Given the description of an element on the screen output the (x, y) to click on. 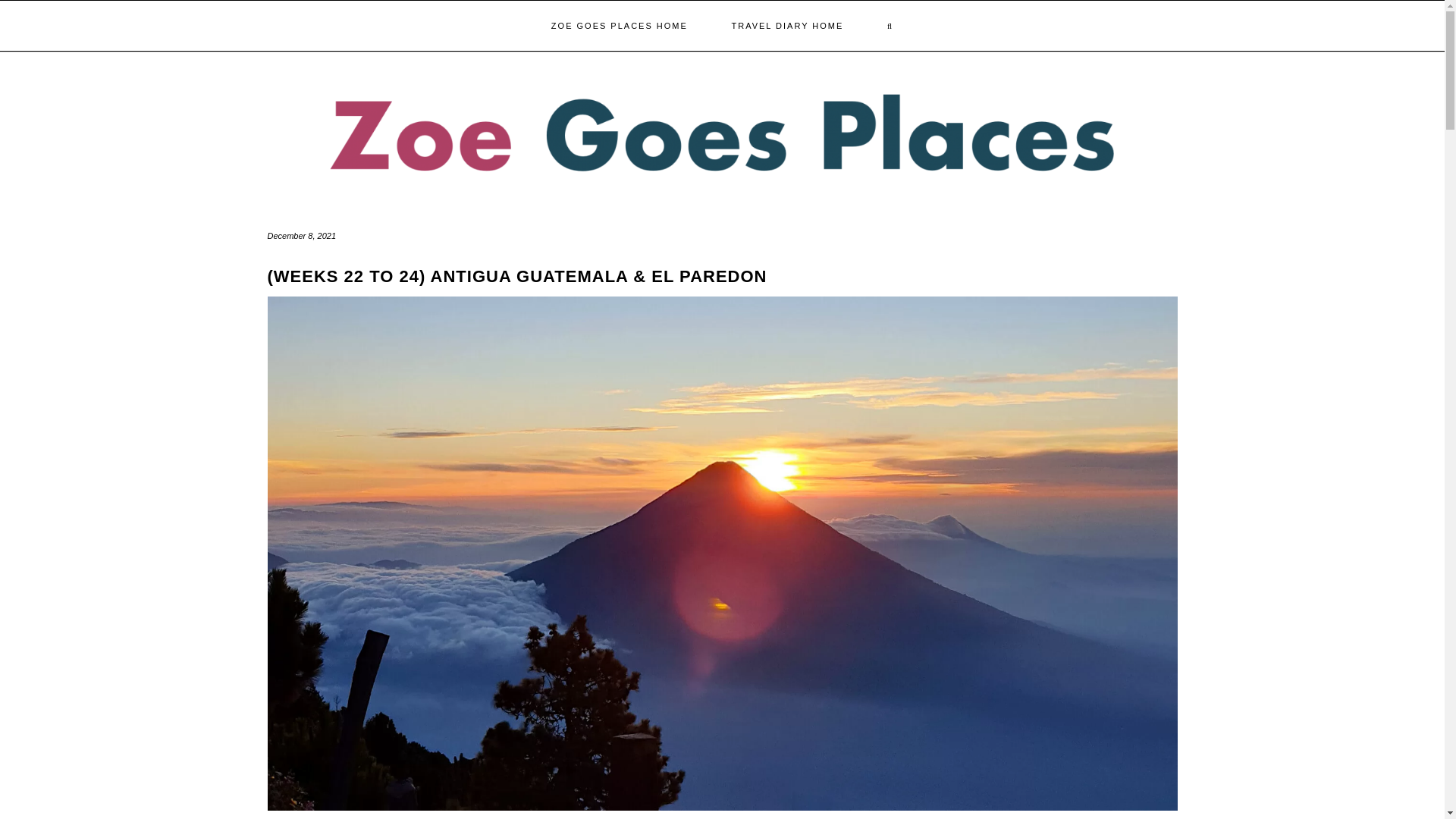
ZOE GOES PLACES HOME (619, 25)
TRAVEL DIARY HOME (786, 25)
